Given the description of an element on the screen output the (x, y) to click on. 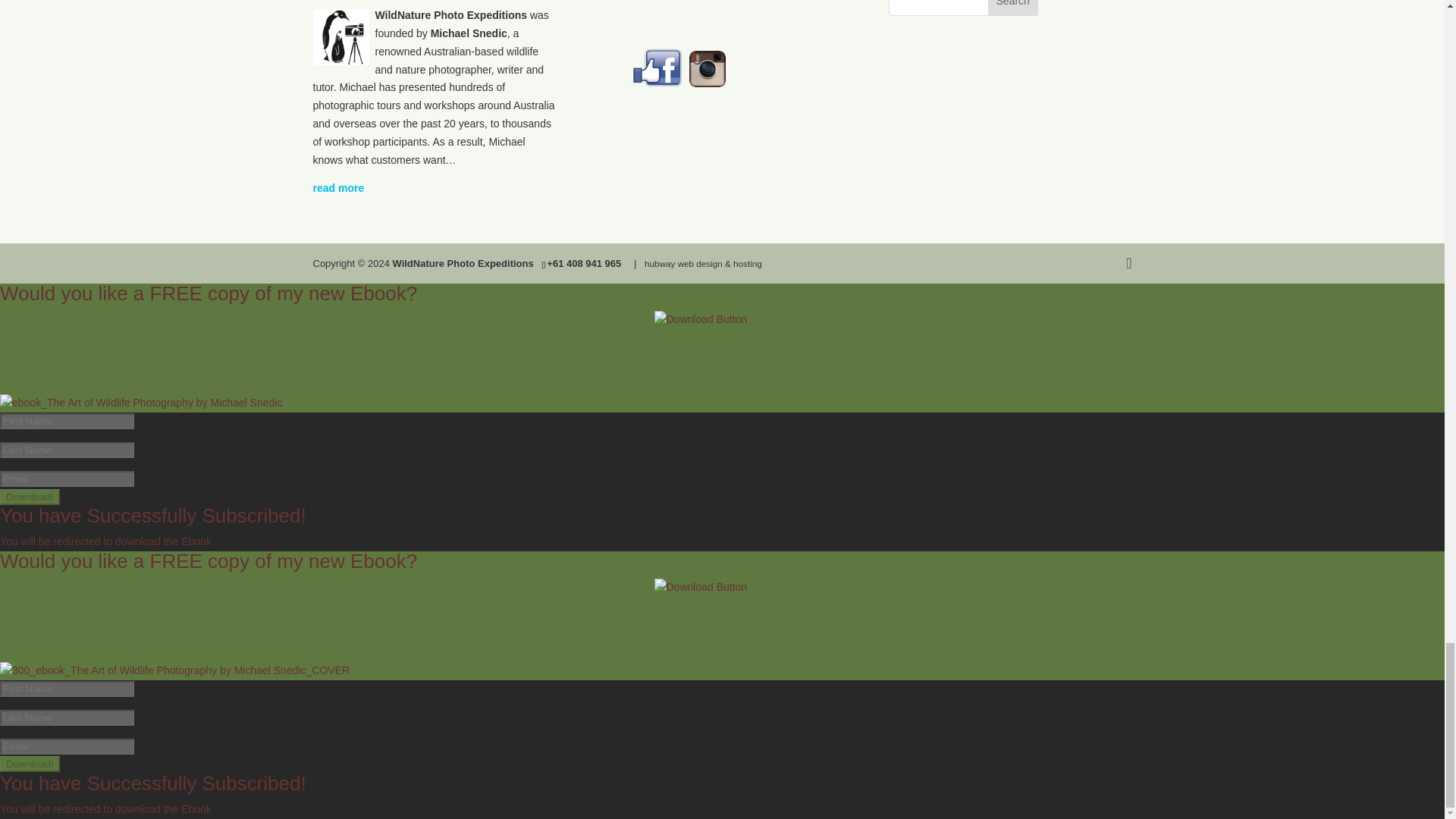
hubway web design (703, 263)
Download! (29, 763)
WildNature Photo Expeditions (461, 263)
read more (338, 187)
Search (1013, 7)
Search (1013, 7)
Download! (29, 496)
